Given the description of an element on the screen output the (x, y) to click on. 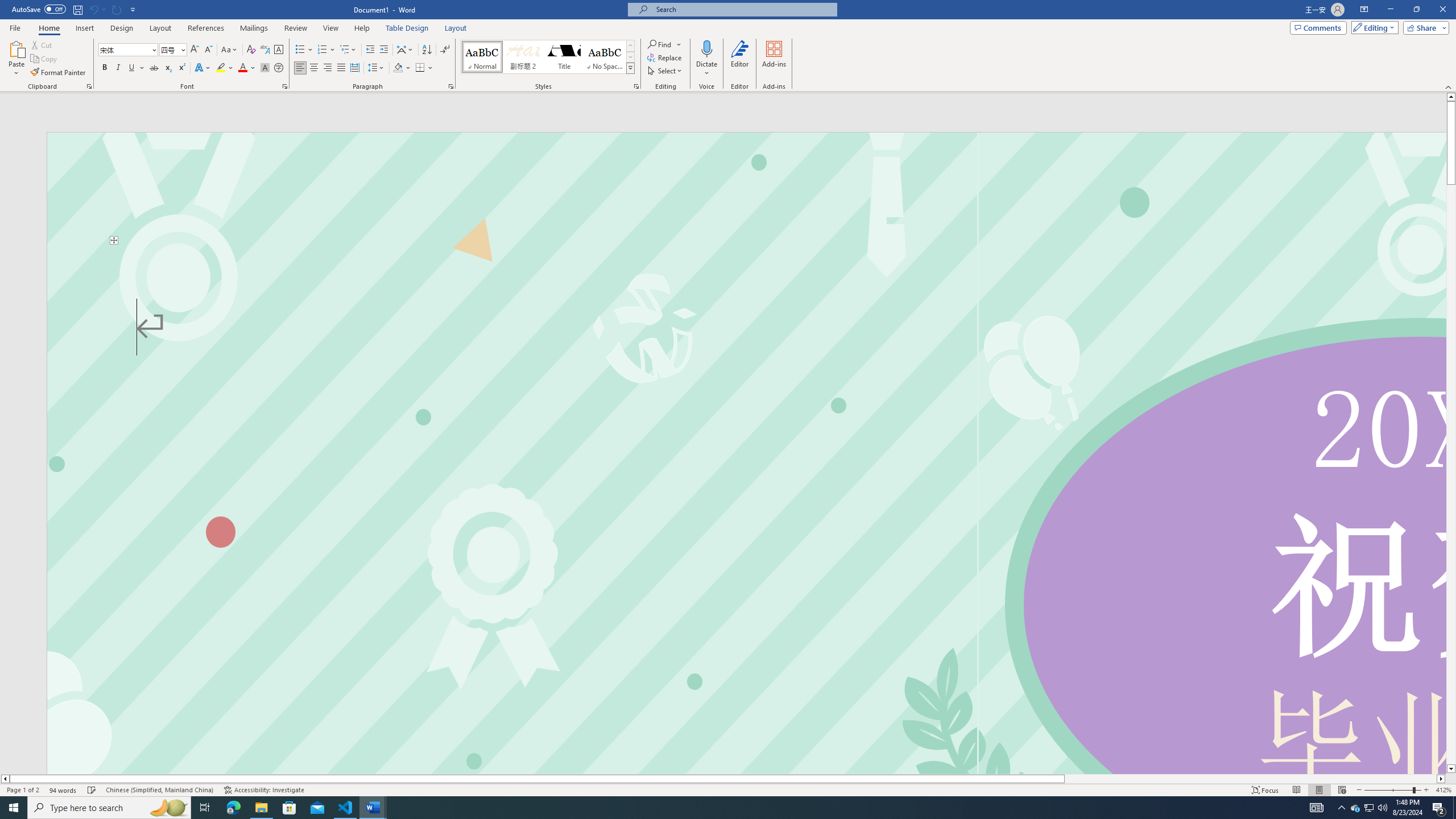
Page Number Page 1 of 2 (22, 790)
